Given the description of an element on the screen output the (x, y) to click on. 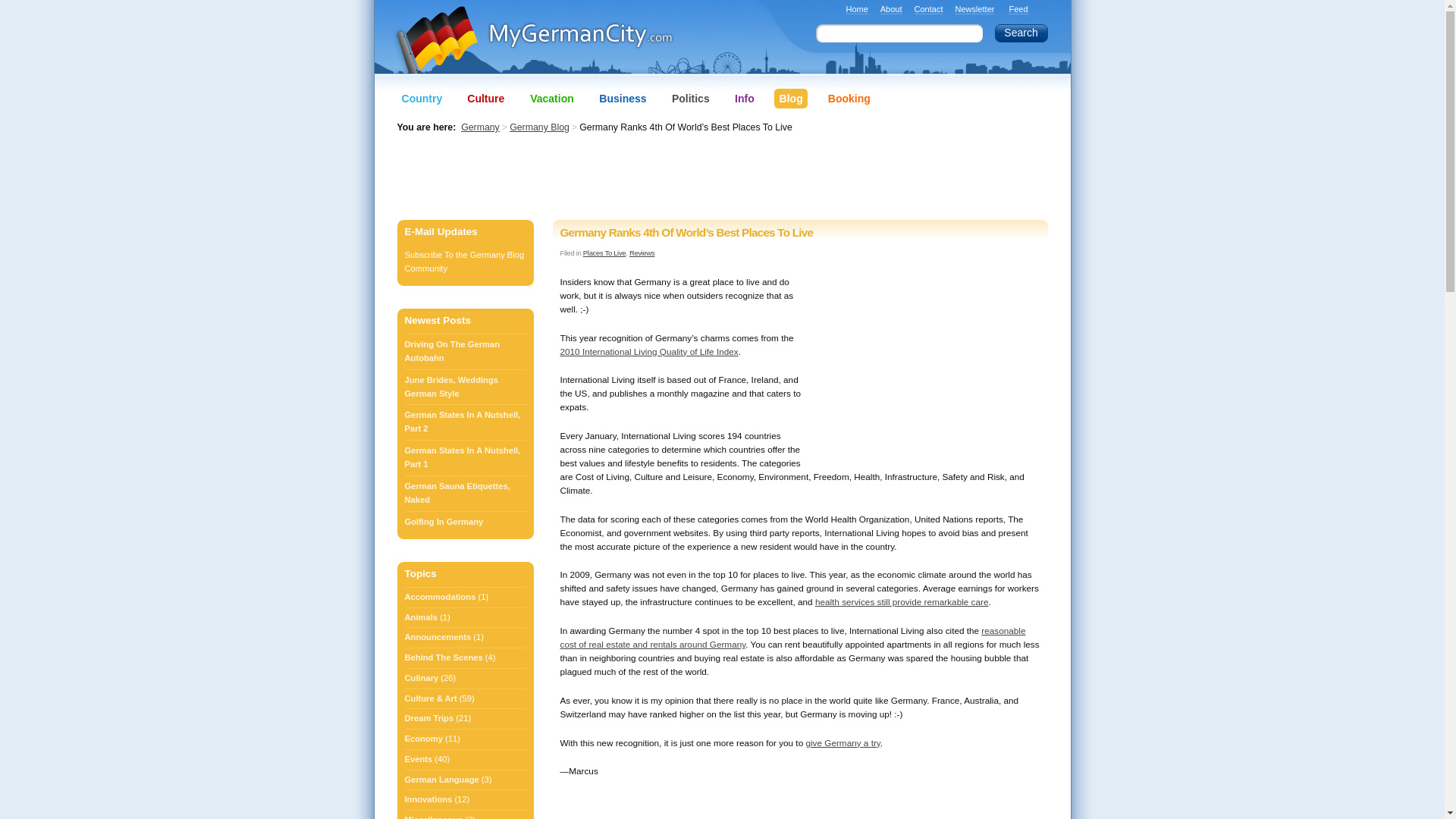
German States In A Nutshell, Part 1 (464, 457)
Golfing In Germany (464, 522)
Dream Trips (429, 718)
Back Home (563, 42)
Culinary (421, 677)
June Brides, Weddings German Style (464, 386)
give Germany a try (842, 742)
German States In A Nutshell, Part 2 (464, 421)
Places To Live (604, 252)
Miscellaneous (433, 815)
Search (1021, 33)
Reviews (641, 252)
German Sauna Etiquettes, Naked (464, 493)
Driving On The German Autobahn (464, 351)
German Language (441, 779)
